Given the description of an element on the screen output the (x, y) to click on. 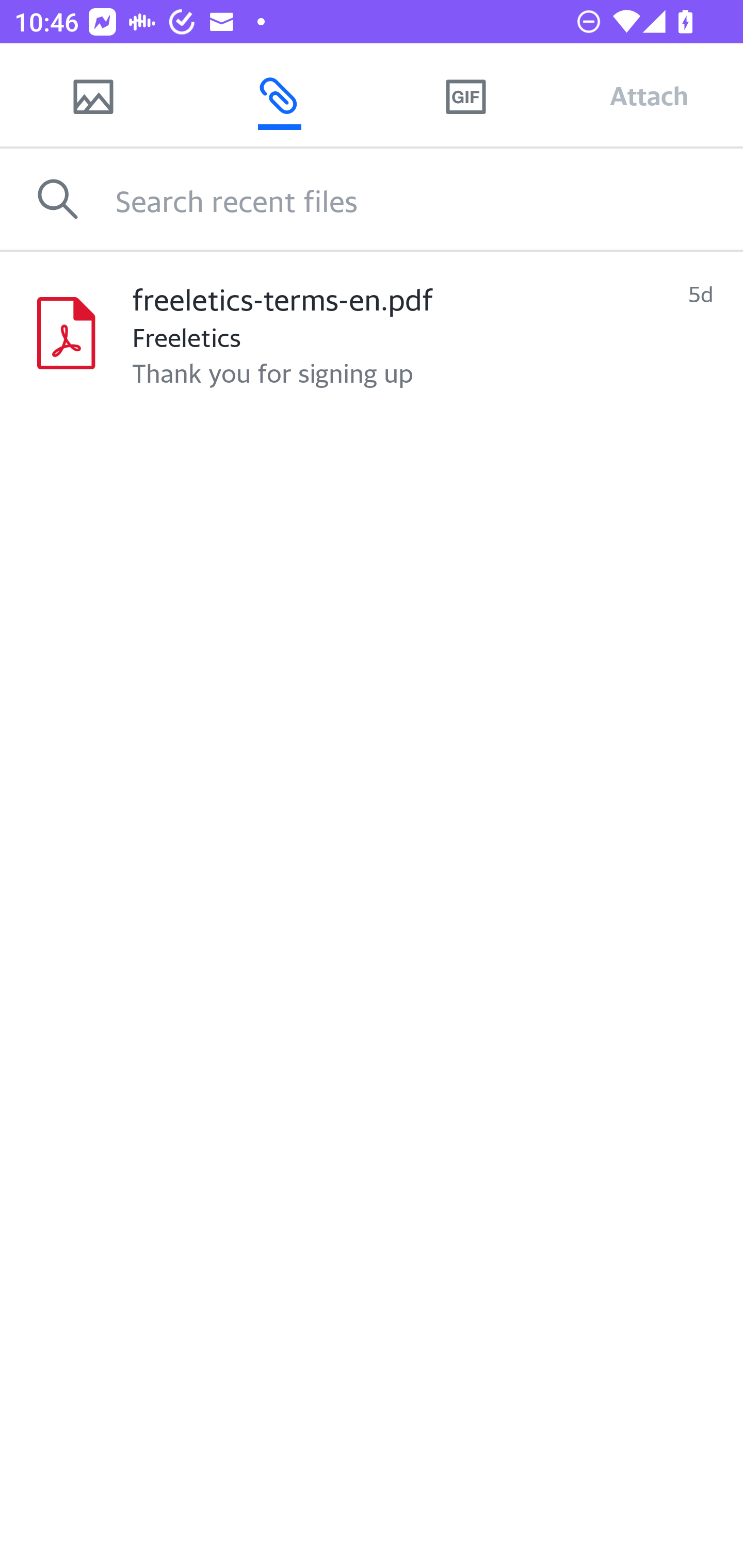
Camera photos (93, 95)
Recent attachments from mail (279, 95)
GIFs (465, 95)
Attach (649, 95)
Search recent files (429, 198)
